Given the description of an element on the screen output the (x, y) to click on. 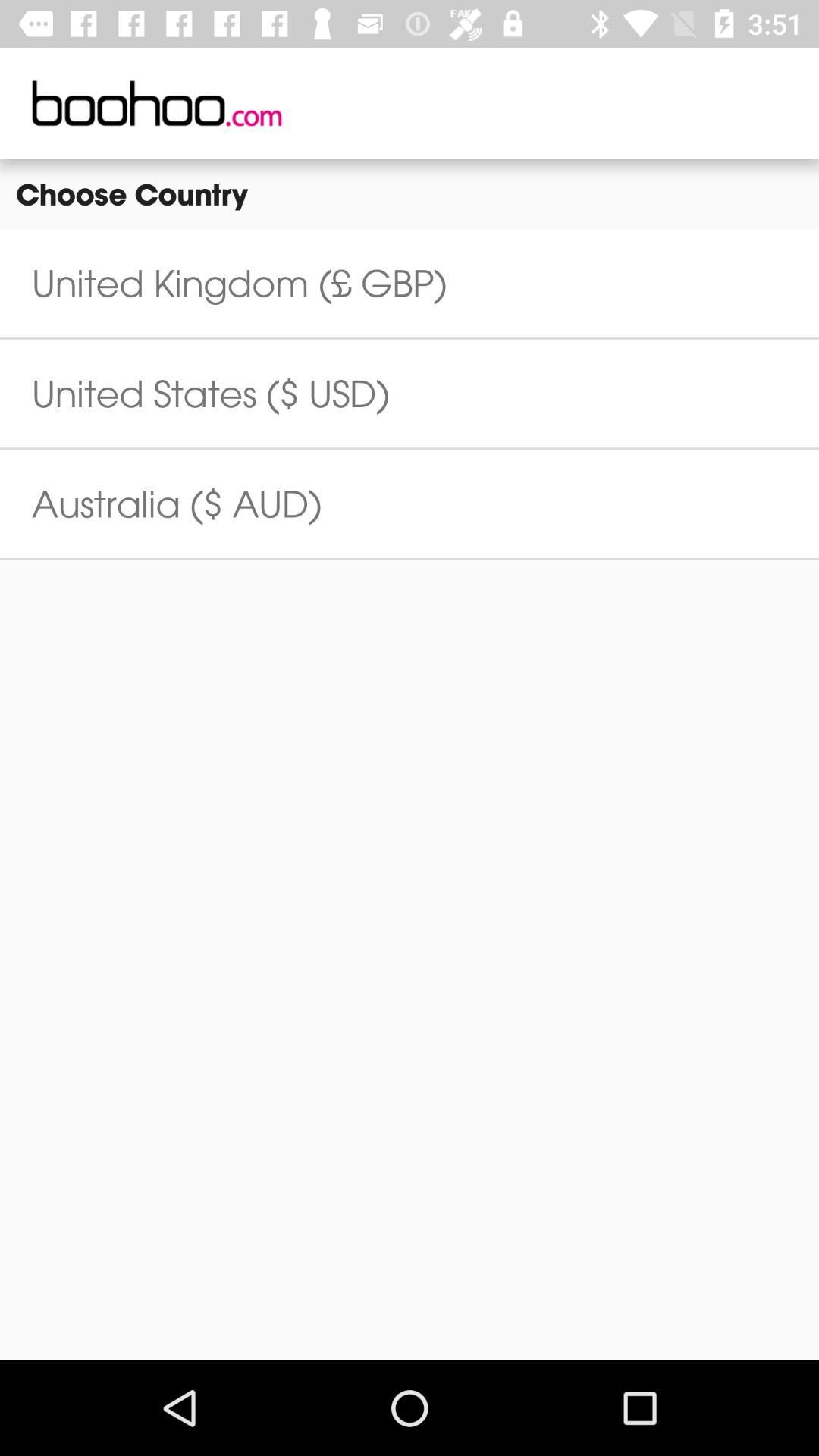
open the australia ($ aud) on the left (176, 503)
